Given the description of an element on the screen output the (x, y) to click on. 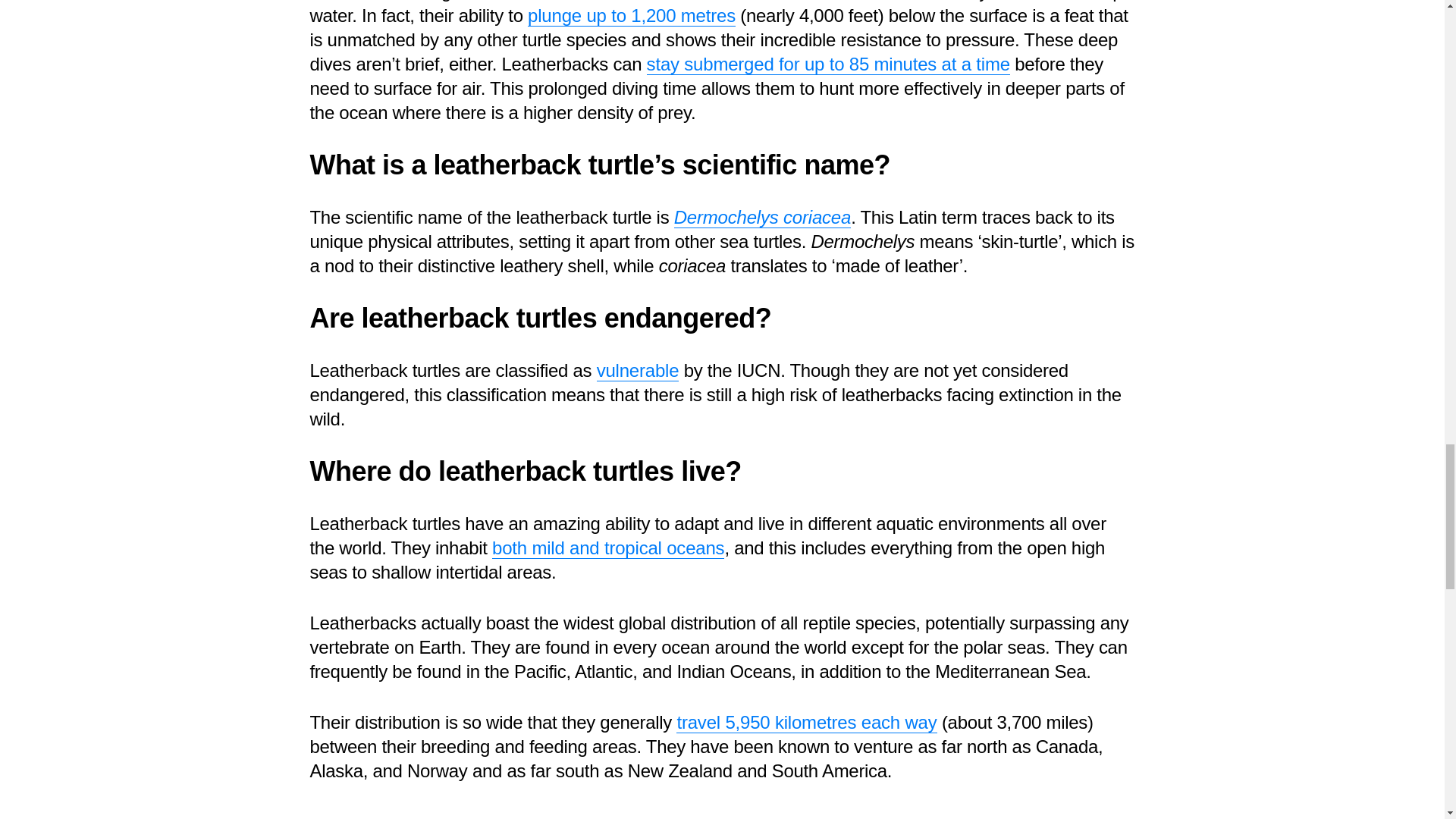
vulnerable (637, 370)
both mild and tropical oceans (607, 547)
travel 5,950 kilometres each way (806, 722)
plunge up to 1,200 metres (631, 15)
stay submerged for up to 85 minutes at a time (828, 64)
Dermochelys coriacea (762, 217)
